Given the description of an element on the screen output the (x, y) to click on. 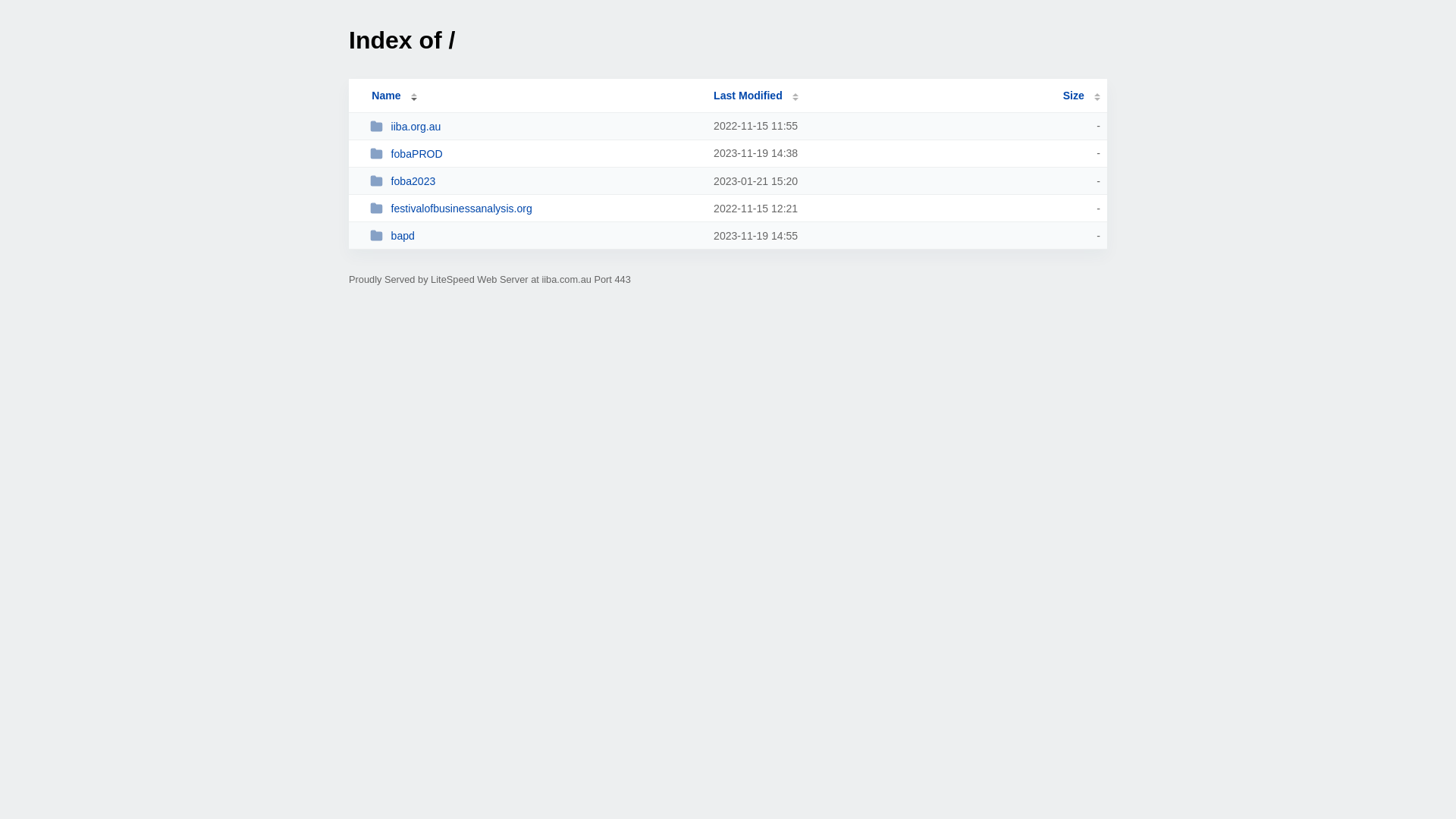
Name Element type: text (385, 95)
festivalofbusinessanalysis.org Element type: text (534, 207)
Size Element type: text (1081, 95)
Last Modified Element type: text (755, 95)
foba2023 Element type: text (534, 180)
bapd Element type: text (534, 235)
fobaPROD Element type: text (534, 153)
iiba.org.au Element type: text (534, 125)
